Given the description of an element on the screen output the (x, y) to click on. 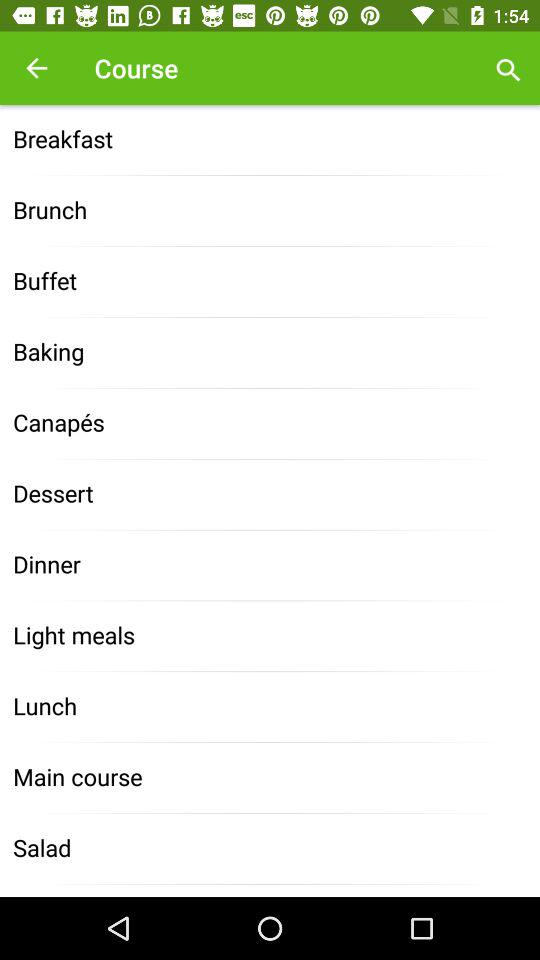
press the icon below the brunch item (270, 281)
